Given the description of an element on the screen output the (x, y) to click on. 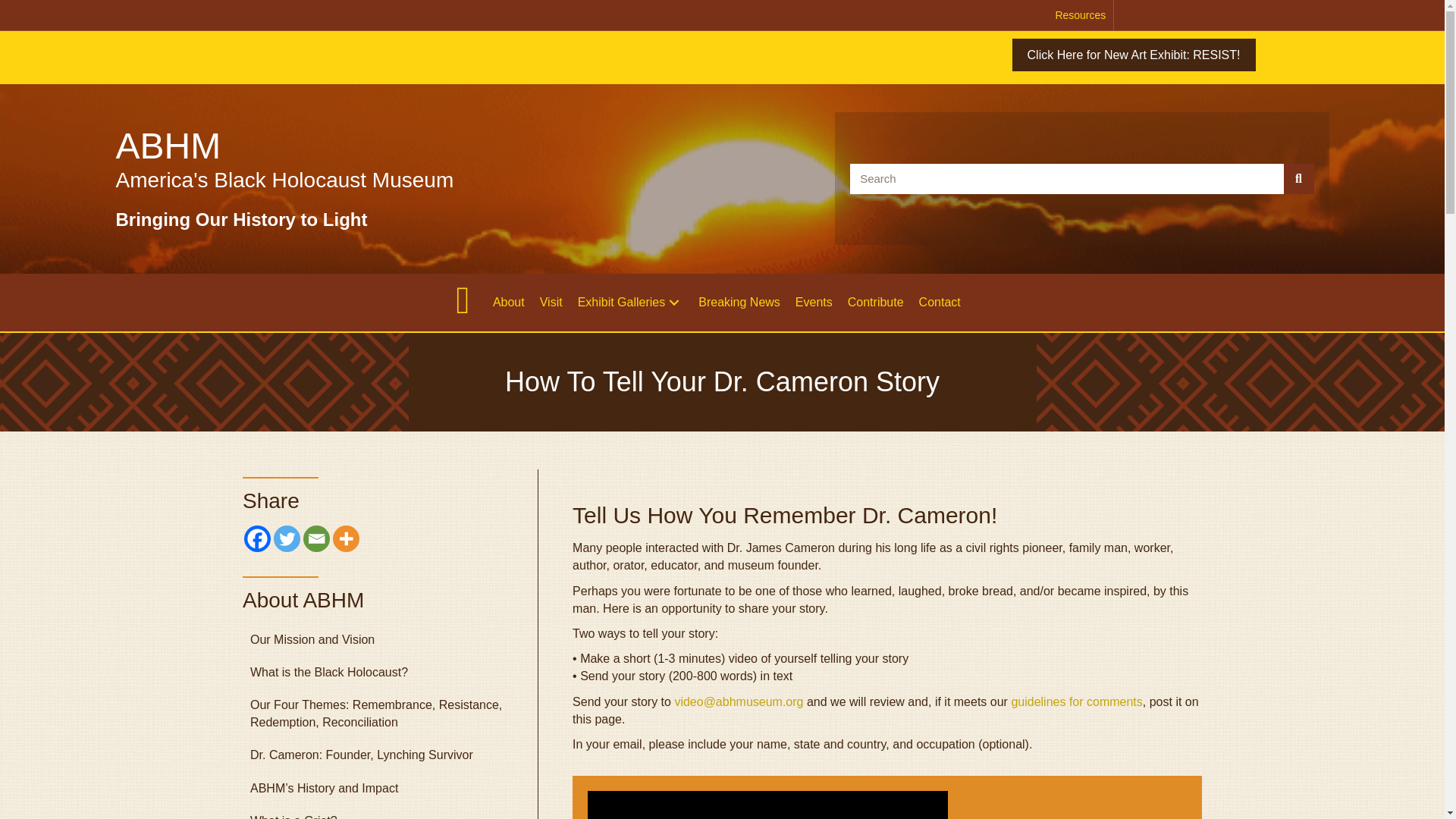
Search (1067, 178)
Dr. Cameron: Founder, Lynching Survivor (379, 754)
Contact (939, 301)
Twitter (286, 538)
Visit (551, 301)
Facebook (257, 538)
What is the Black Holocaust? (379, 672)
Exhibit Galleries (630, 301)
What is a Griot? (379, 811)
